Given the description of an element on the screen output the (x, y) to click on. 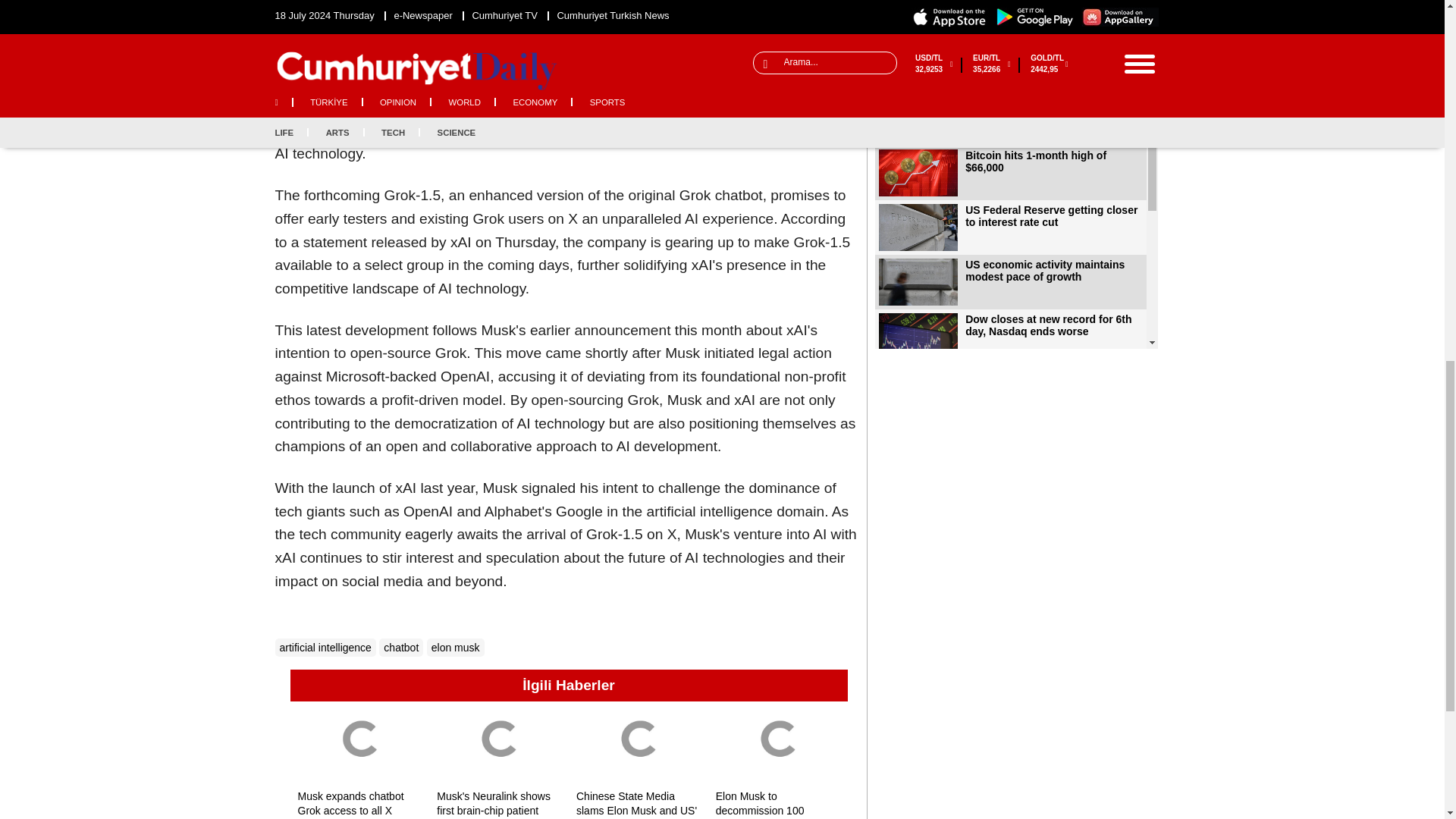
Elon Musk to decommission 100 satellites in six months (778, 745)
